Given the description of an element on the screen output the (x, y) to click on. 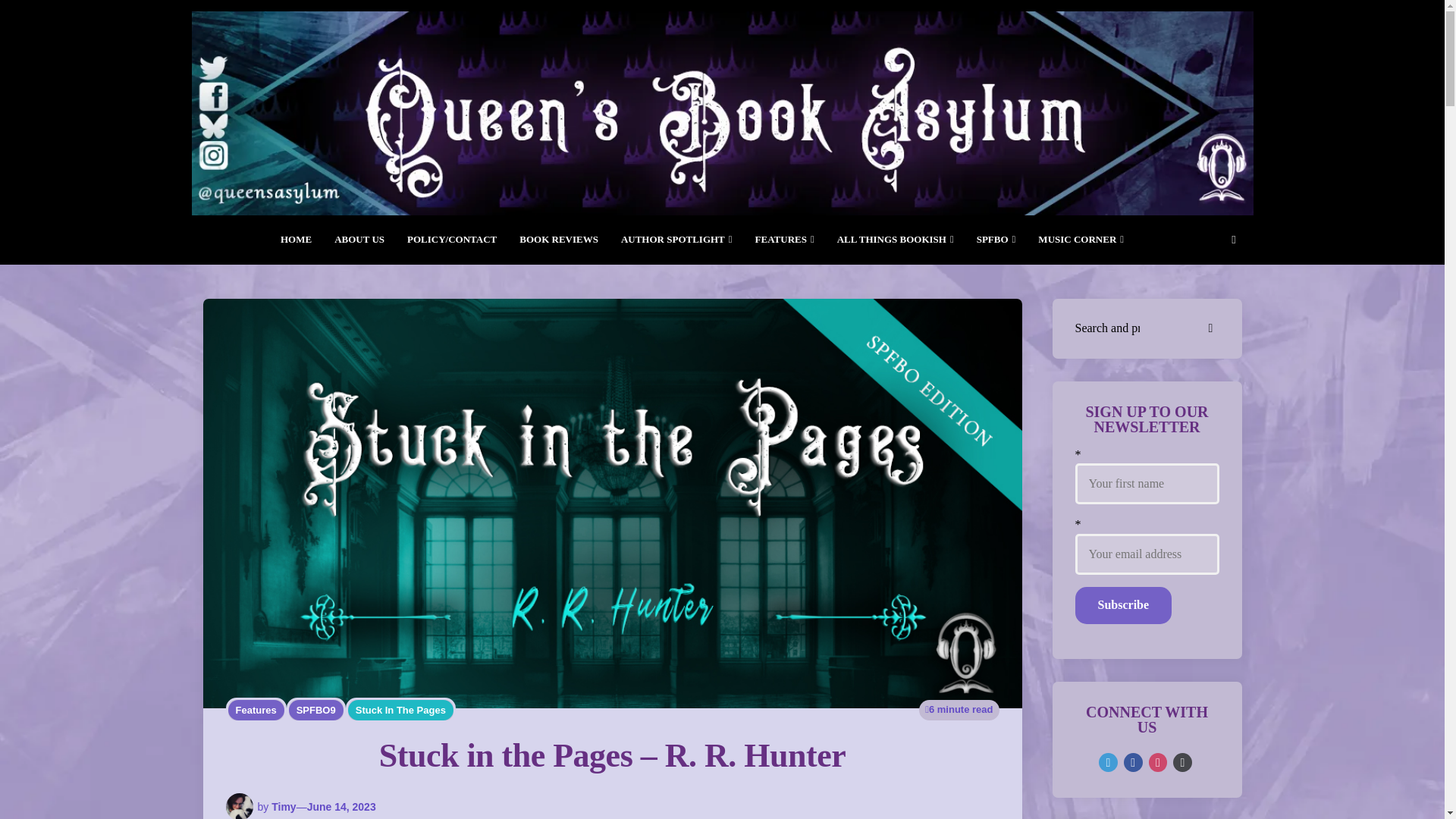
Subscribe (1123, 605)
ABOUT US (359, 239)
SPFBO (996, 239)
BOOK REVIEWS (559, 239)
FEATURES (784, 239)
AUTHOR SPOTLIGHT (677, 239)
HOME (296, 239)
ALL THINGS BOOKISH (895, 239)
